Given the description of an element on the screen output the (x, y) to click on. 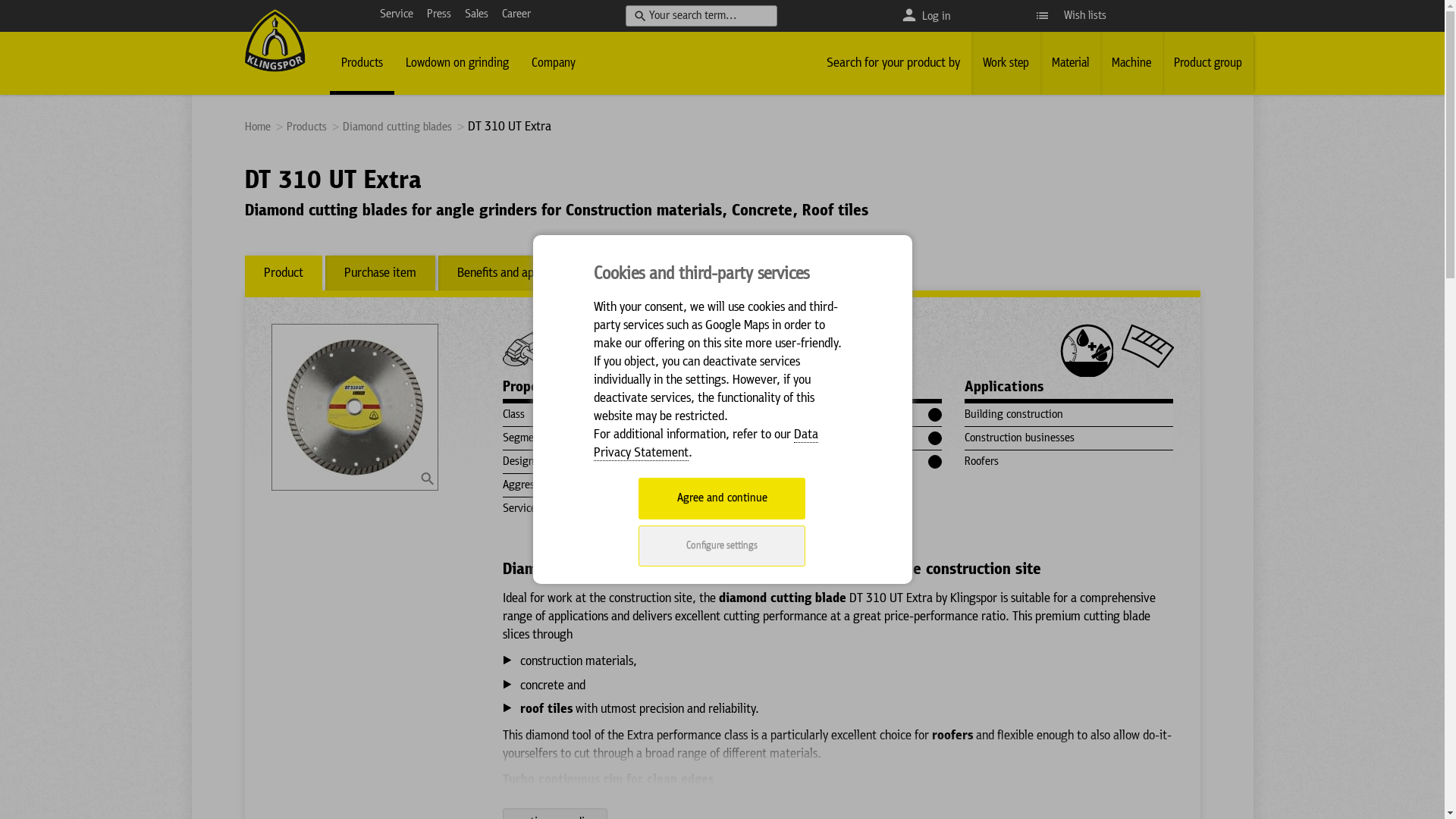
Service Element type: text (396, 14)
Search Site Element type: hover (701, 14)
Sales Element type: text (476, 14)
Wish lists Element type: text (1070, 15)
Agree and continue Element type: text (721, 498)
en-au Element type: hover (274, 41)
Machine Element type: text (1130, 62)
Purchase item Element type: text (379, 273)
Configure settings Element type: text (721, 546)
Company Element type: text (553, 62)
Material Element type: text (1070, 62)
Home Element type: text (258, 127)
Diamond cutting blades Element type: text (398, 127)
Turbo segment Element type: hover (1146, 345)
Data Privacy Statement Element type: text (705, 444)
Search Element type: text (23, 12)
Press Element type: text (438, 14)
Career Element type: text (516, 14)
Products Element type: text (307, 127)
Product Element type: text (282, 273)
Log in Element type: text (936, 16)
Suitable for wet and dry use Element type: hover (1086, 349)
Lowdown on grinding Element type: text (457, 62)
Product group Element type: text (1206, 62)
Angle grinder Element type: hover (526, 346)
Products Element type: text (361, 63)
Work step Element type: text (1004, 62)
Benefits and application information Element type: text (548, 273)
